Given the description of an element on the screen output the (x, y) to click on. 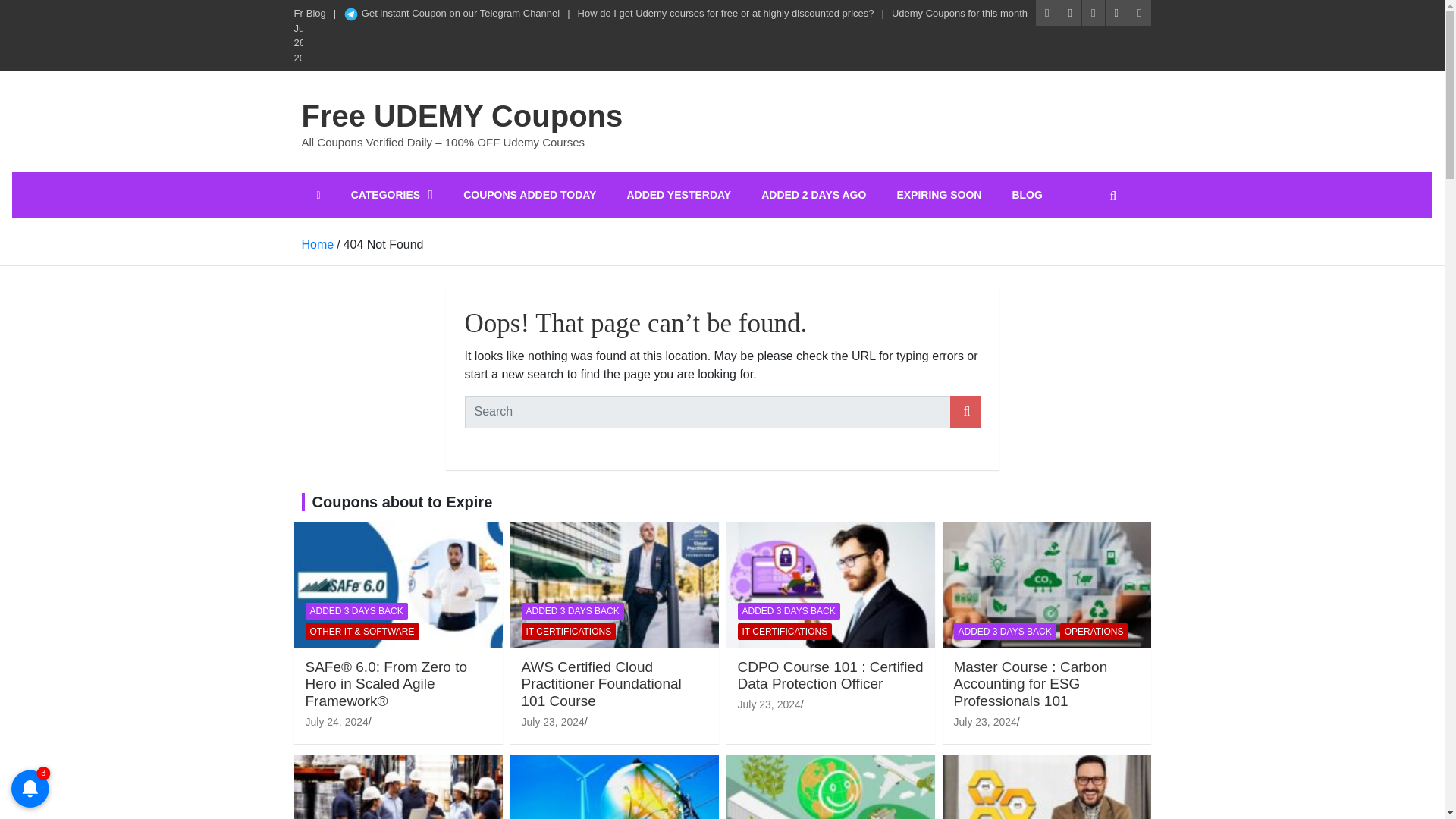
Blog (315, 13)
CATEGORIES (392, 194)
Udemy Coupons for this month (959, 13)
Free UDEMY Coupons (462, 115)
Get instant Coupon on our Telegram Channel (451, 13)
AWS Certified Cloud Practitioner Foundational 101 Course (553, 721)
CDPO Course 101 : Certified Data Protection Officer (767, 704)
Master Course : Carbon Accounting for ESG Professionals 101 (984, 721)
